Given the description of an element on the screen output the (x, y) to click on. 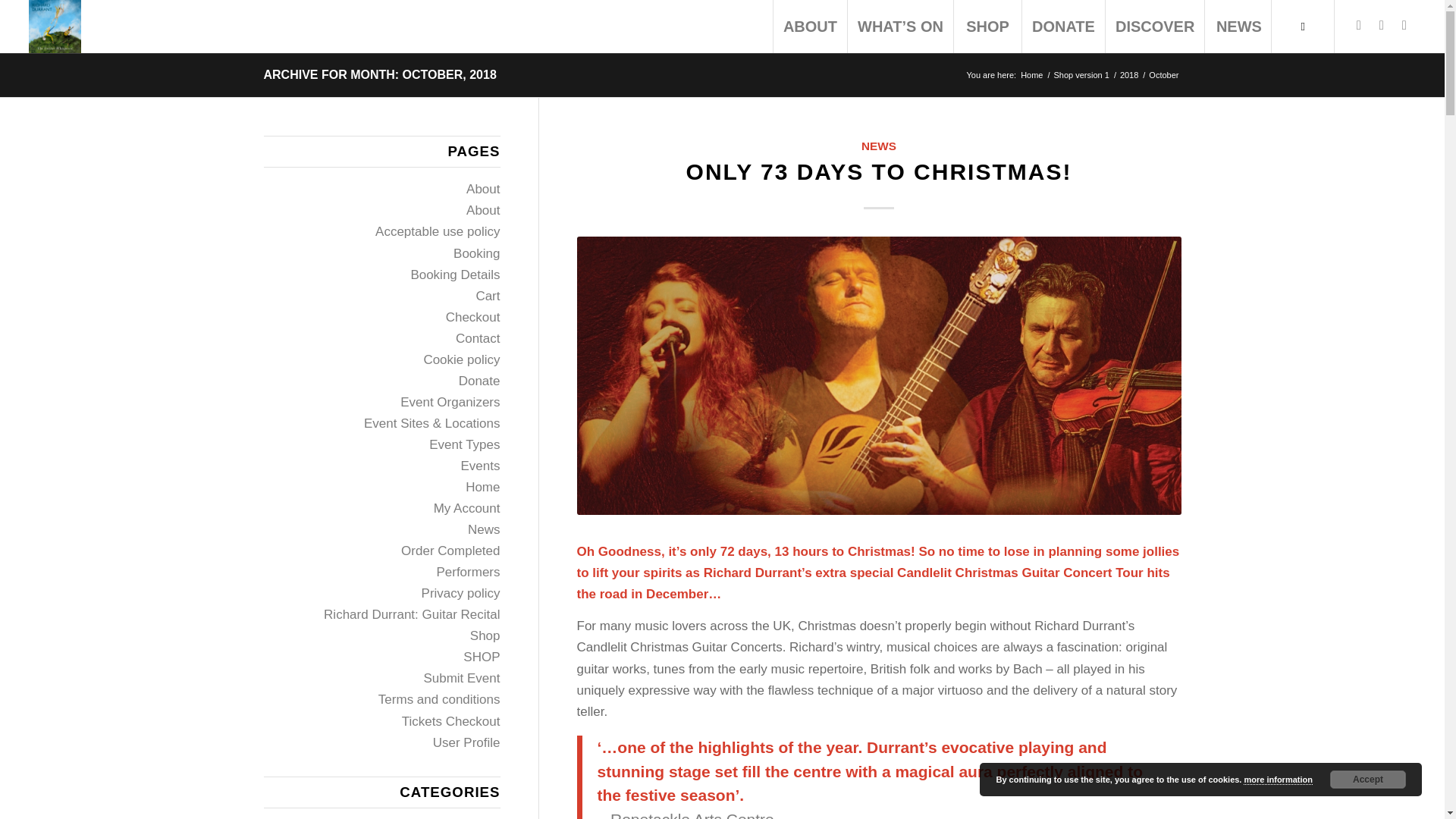
Youtube (1404, 25)
Mail (1359, 25)
Booking Details (454, 274)
Shop version 1 (1080, 75)
NEWS (878, 145)
Richard Durrant (1031, 75)
Shop version 1 (1080, 75)
ABOUT (810, 26)
2018 (1129, 75)
Booking (475, 252)
Acceptable use policy (437, 231)
About (482, 188)
NEWS (1238, 26)
DISCOVER (1154, 26)
SHOP (987, 26)
